Given the description of an element on the screen output the (x, y) to click on. 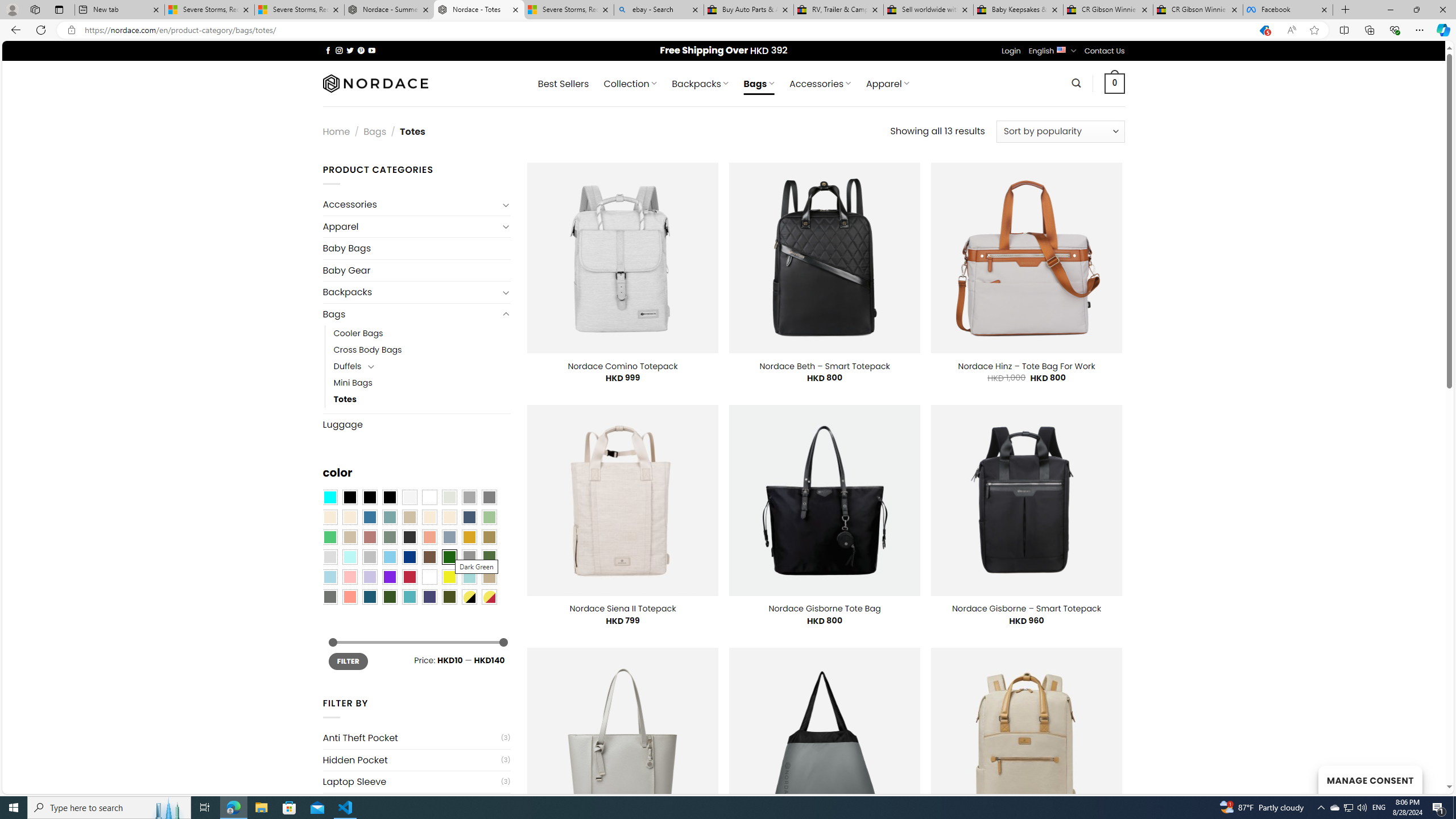
 0  (1115, 83)
Apparel (410, 226)
Blue (369, 517)
Brownie (408, 517)
Baby Bags (416, 248)
Facebook (1287, 9)
Rose (369, 536)
Nordace - Totes (478, 9)
